Given the description of an element on the screen output the (x, y) to click on. 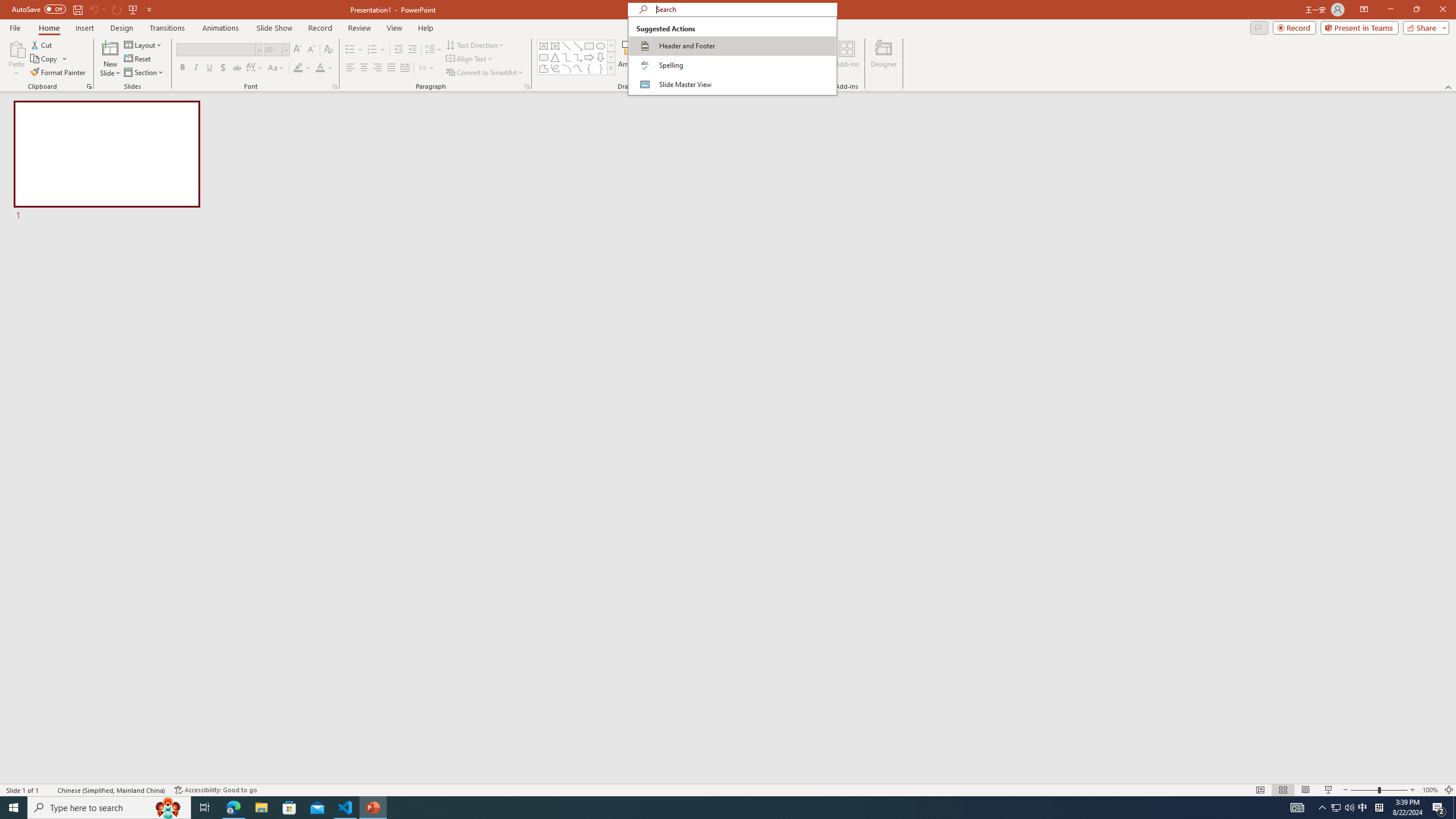
Zoom 100% (1430, 790)
